Given the description of an element on the screen output the (x, y) to click on. 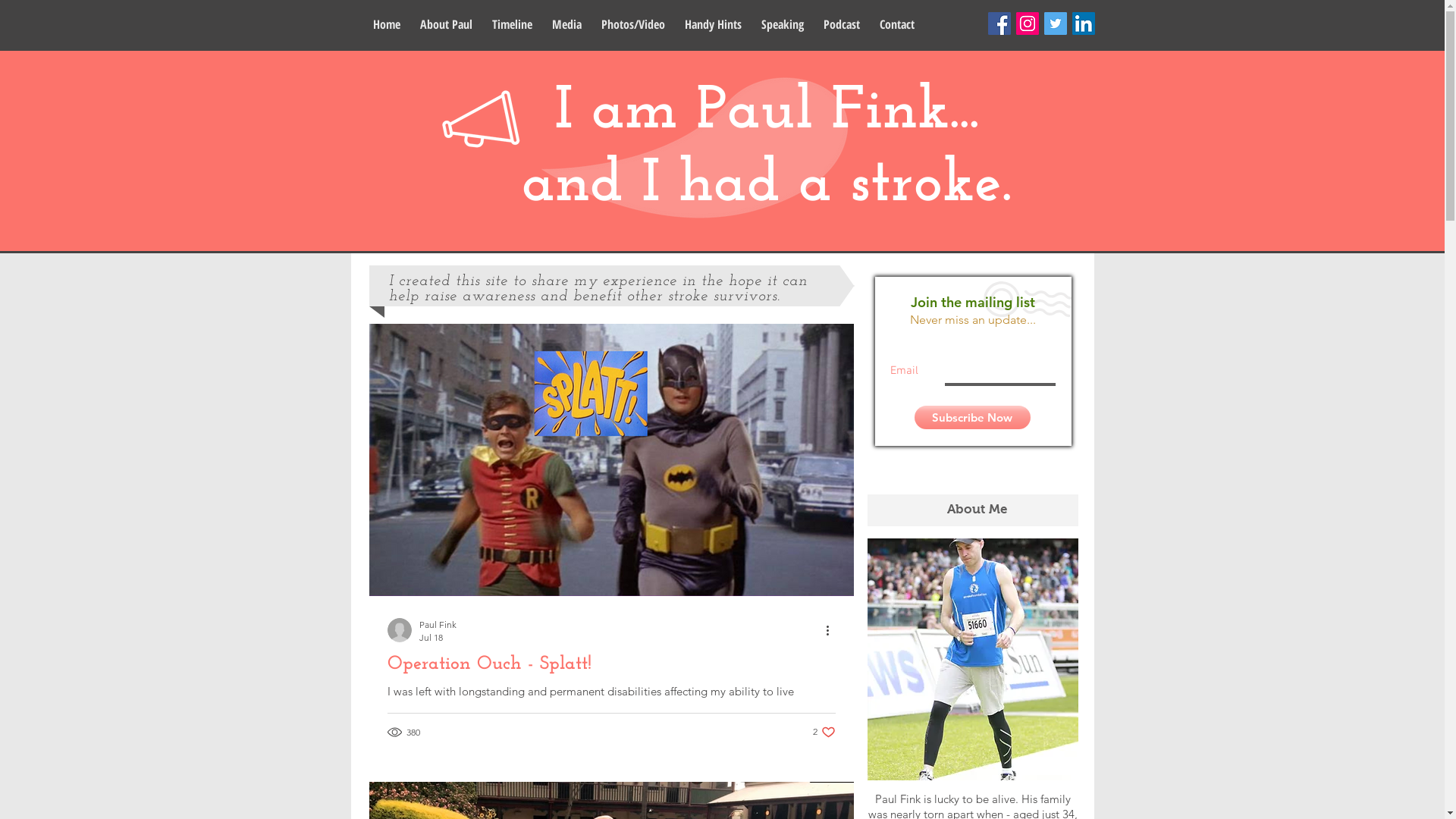
About Paul Element type: text (445, 22)
Handy Hints Element type: text (712, 22)
20x30-MMCD3354_edited.jpg Element type: hover (972, 659)
Photos/Video Element type: text (632, 22)
2 likes. Post not marked as liked
2 Element type: text (823, 731)
I am Paul Fink... Element type: text (766, 111)
Podcast Element type: text (840, 22)
Speaking Element type: text (781, 22)
and I had a stroke. Element type: text (766, 184)
Home Element type: text (385, 22)
Contact Element type: text (896, 22)
Subscribe Now Element type: text (972, 417)
Timeline Element type: text (512, 22)
Operation Ouch - Splatt! Element type: text (610, 663)
Media Element type: text (565, 22)
Site Search Element type: hover (973, 473)
